Given the description of an element on the screen output the (x, y) to click on. 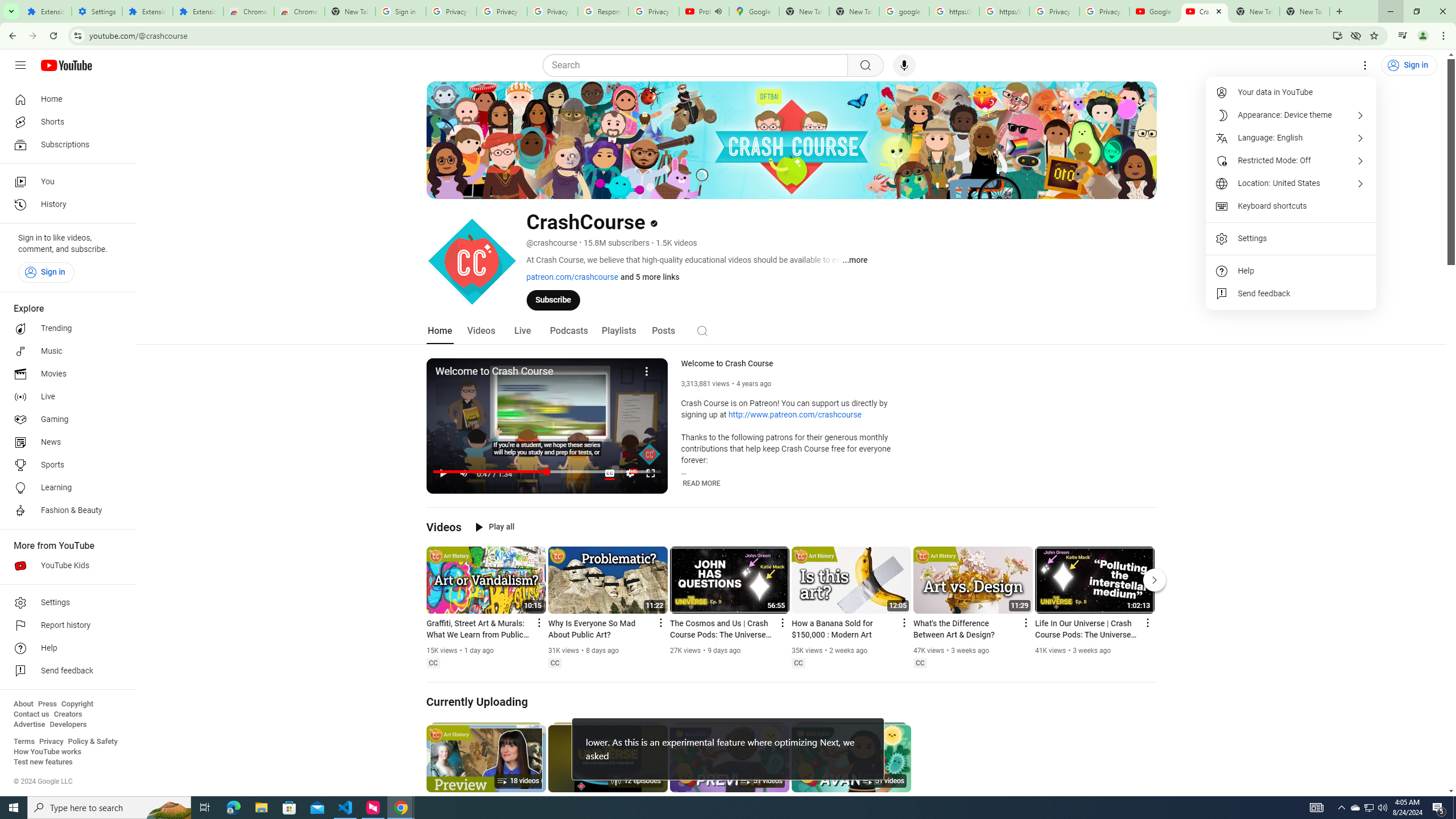
Report history (64, 625)
Guide (20, 65)
Sign in - Google Accounts (399, 11)
Learning (64, 487)
Advertise (29, 724)
News (64, 441)
and 5 more links (649, 276)
Welcome to Crash Course (795, 363)
